Given the description of an element on the screen output the (x, y) to click on. 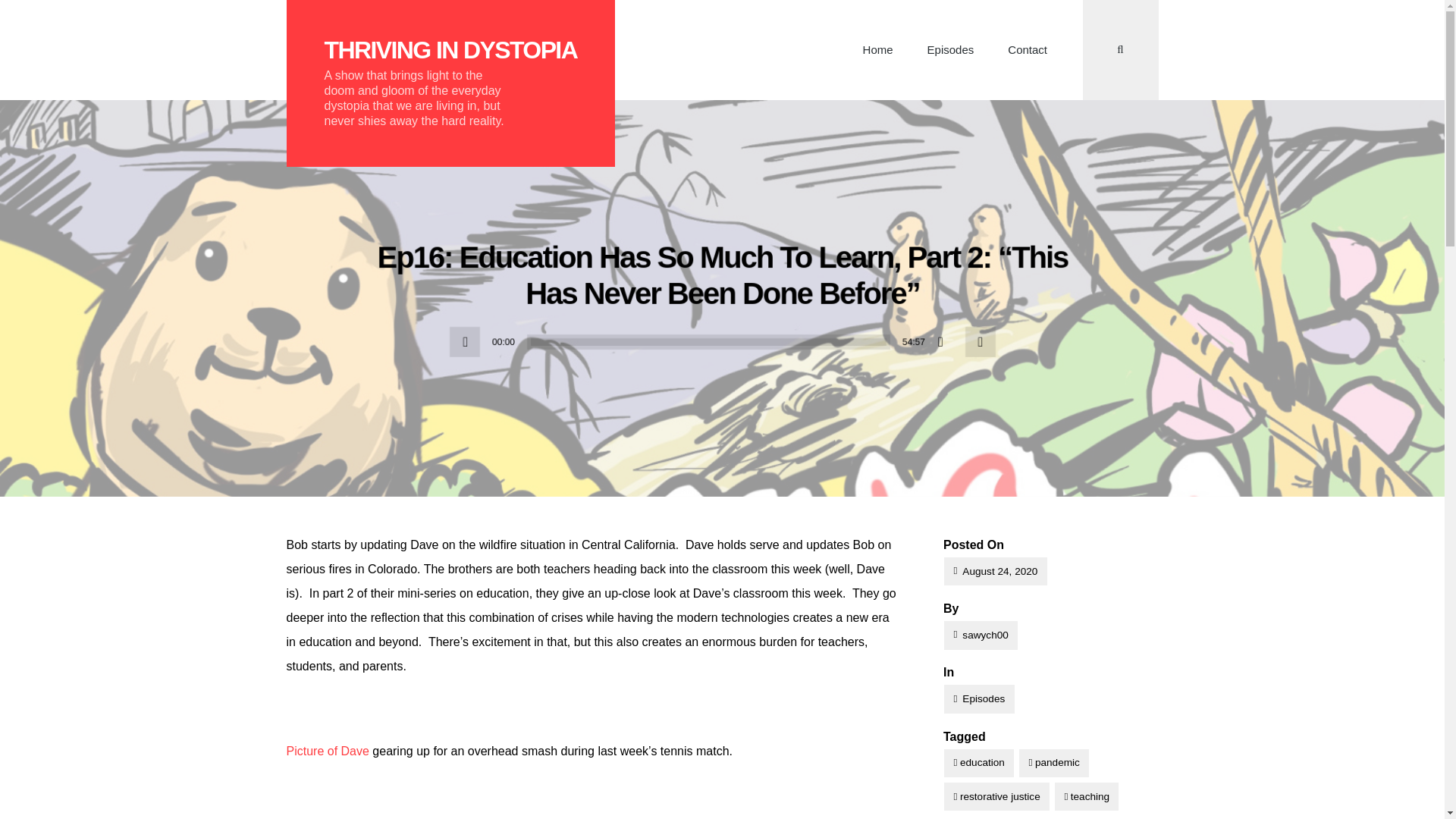
pandemic (1054, 763)
Episodes (978, 698)
teaching (1086, 796)
August 24, 2020 (994, 571)
Mute (944, 341)
Play (464, 341)
THRIVING IN DYSTOPIA (451, 49)
sawych00 (980, 634)
education (978, 763)
restorative justice (996, 796)
